Given the description of an element on the screen output the (x, y) to click on. 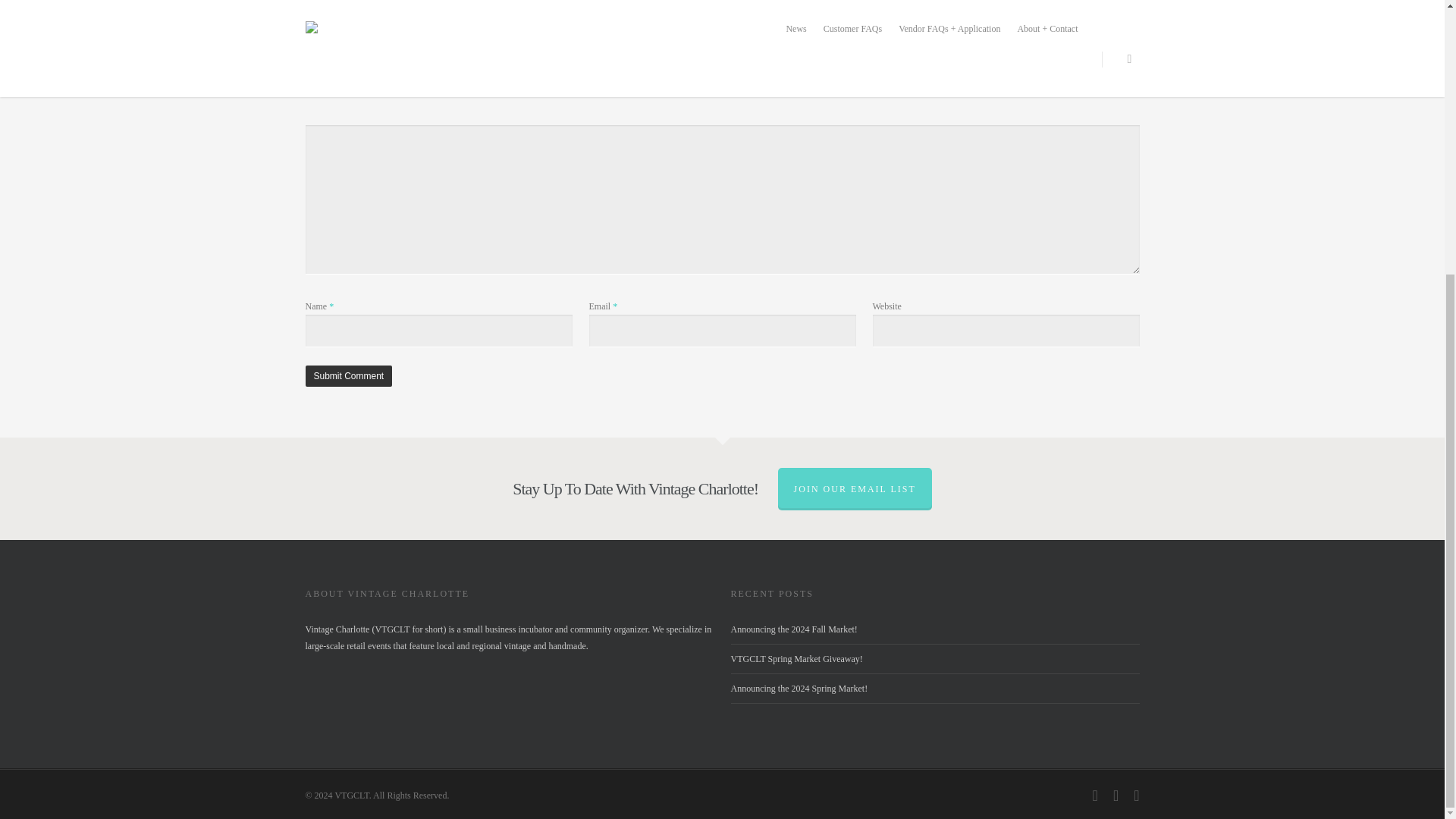
JOIN OUR EMAIL LIST (854, 488)
Announcing the 2024 Fall Market! (793, 629)
VTGCLT Spring Market Giveaway! (796, 658)
Submit Comment (347, 375)
Submit Comment (347, 375)
Announcing the 2024 Spring Market! (798, 688)
